Given the description of an element on the screen output the (x, y) to click on. 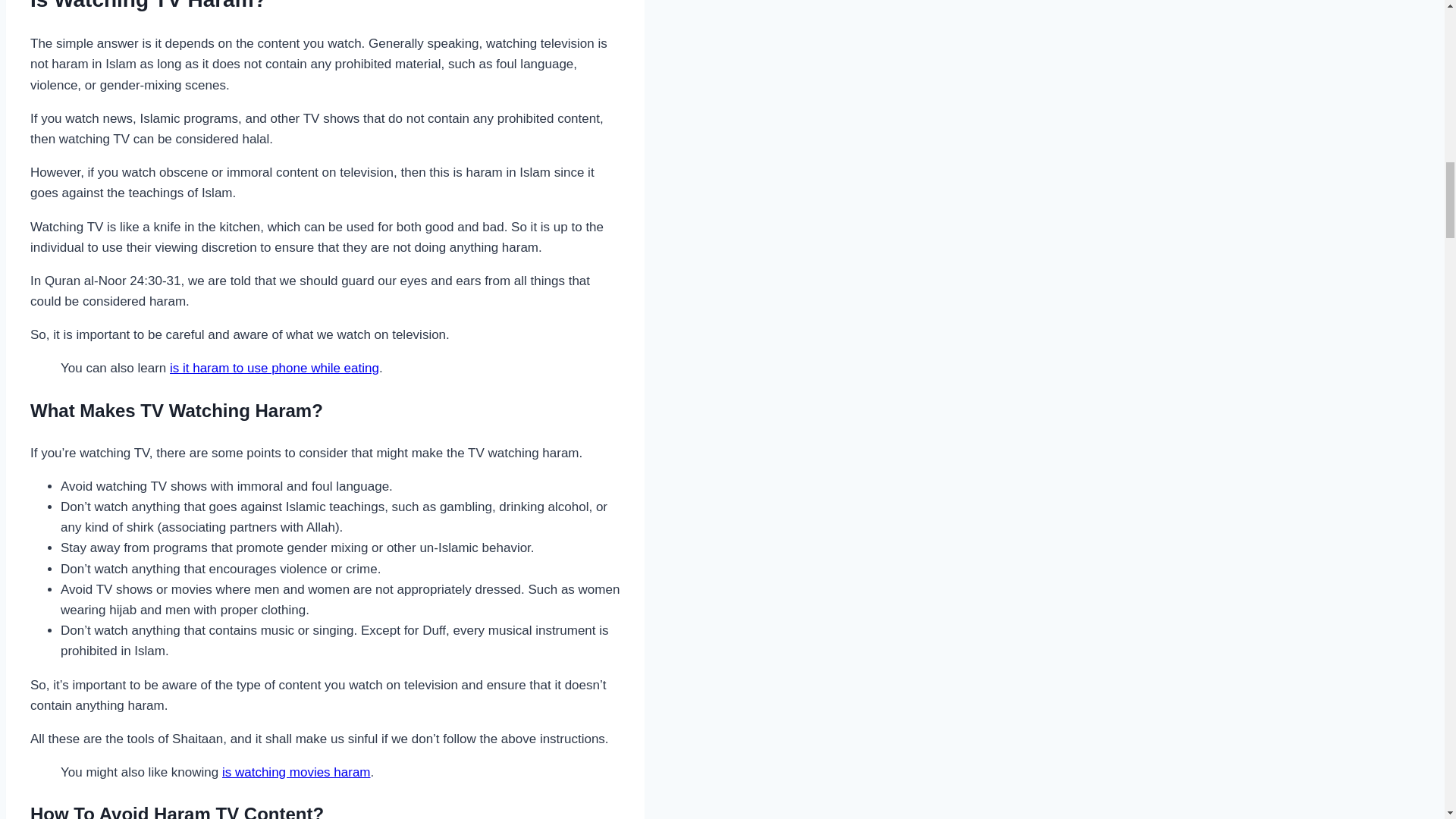
is it haram to use phone while eating (274, 368)
is watching movies haram (296, 771)
